Given the description of an element on the screen output the (x, y) to click on. 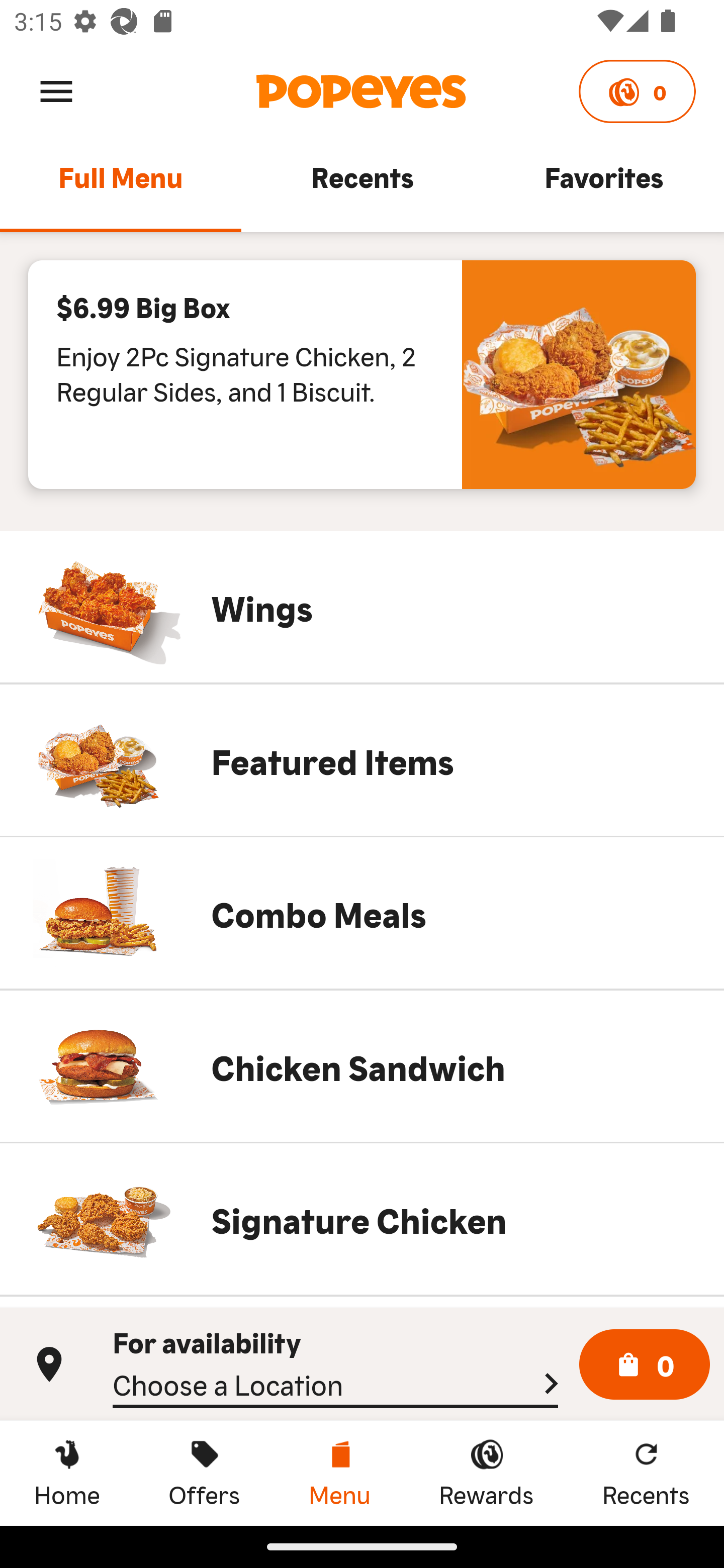
Menu  (56, 90)
0 Points 0 (636, 91)
Full Menu (120, 186)
Recents (361, 186)
Favorites (603, 186)
Wings, Wings Wings Wings (362, 606)
0 Cart total  0 (644, 1364)
Home Home Home (66, 1472)
Offers Offers Offers (203, 1472)
Menu, current page Menu Menu, current page (339, 1472)
Rewards Rewards Rewards (486, 1472)
Recents Recents Recents (646, 1472)
